Given the description of an element on the screen output the (x, y) to click on. 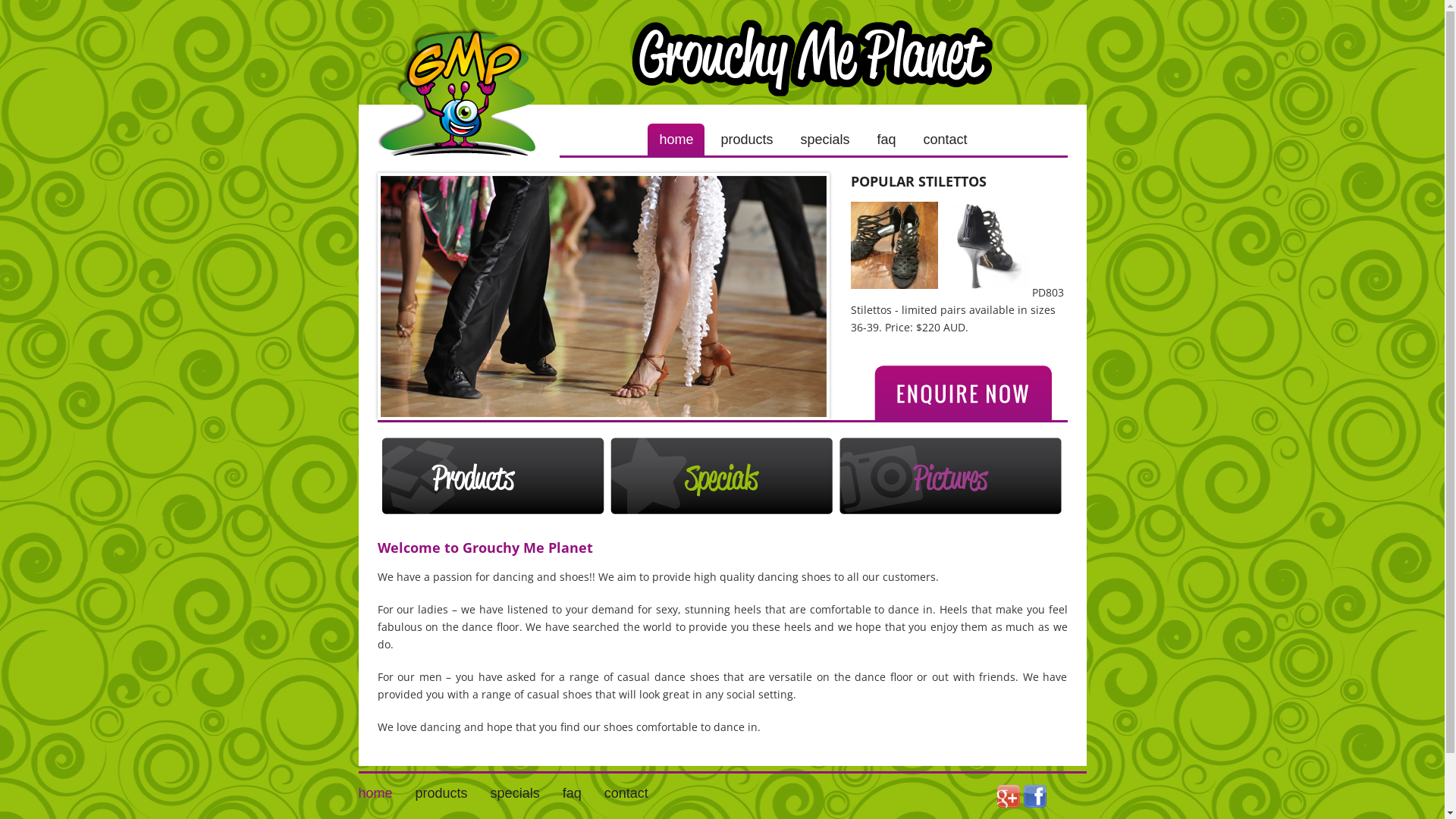
home Element type: text (374, 792)
specials Element type: text (514, 792)
contact Element type: text (945, 139)
products Element type: text (746, 139)
contact Element type: text (626, 792)
faq Element type: text (886, 139)
faq Element type: text (571, 792)
Grouchy Me Planet Element type: text (458, 78)
specials Element type: text (824, 139)
home Element type: text (675, 139)
products Element type: text (441, 792)
